Given the description of an element on the screen output the (x, y) to click on. 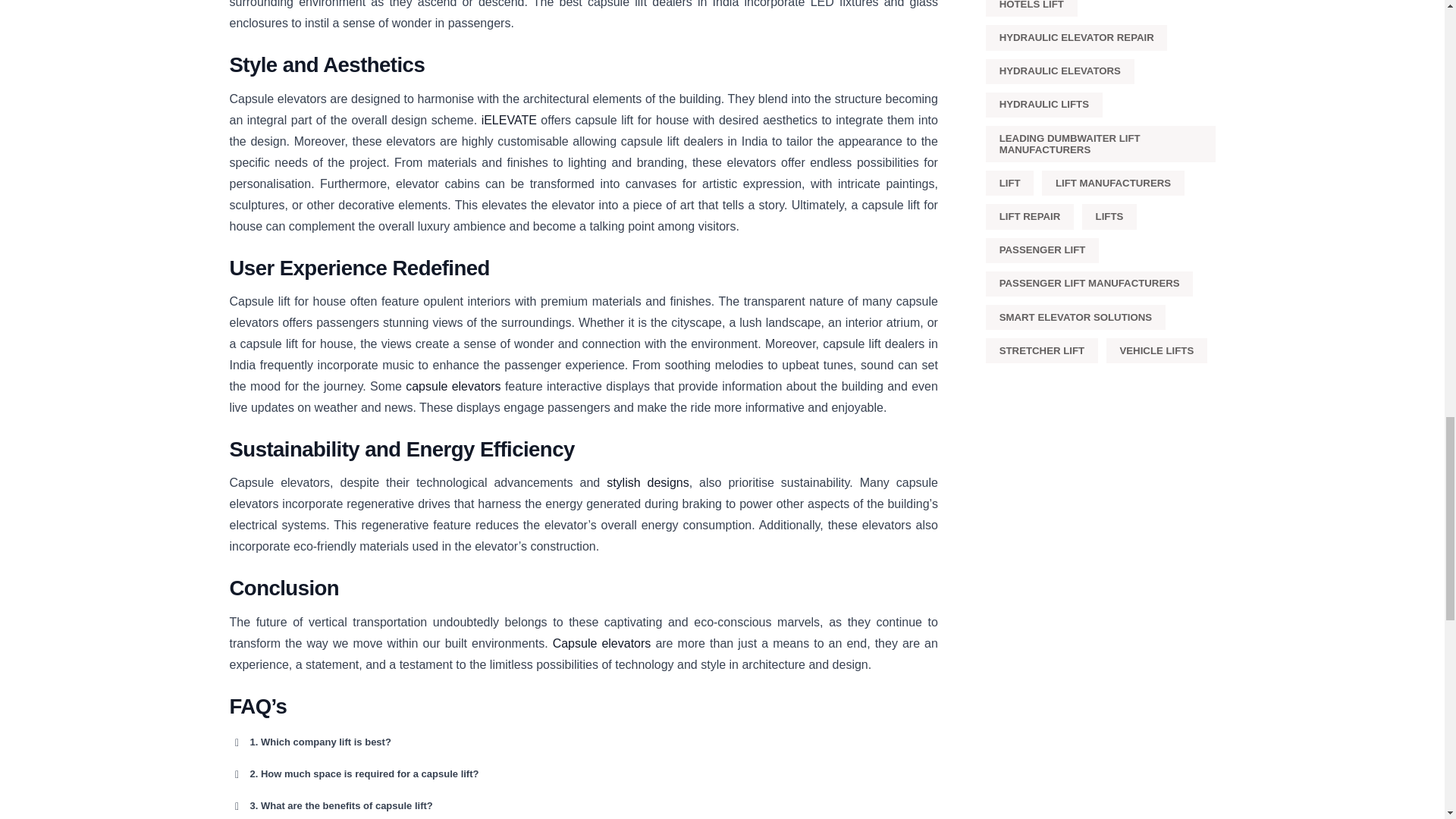
stylish designs (647, 481)
Capsule elevators (601, 643)
iELEVATE (509, 119)
capsule elevators (453, 386)
